Given the description of an element on the screen output the (x, y) to click on. 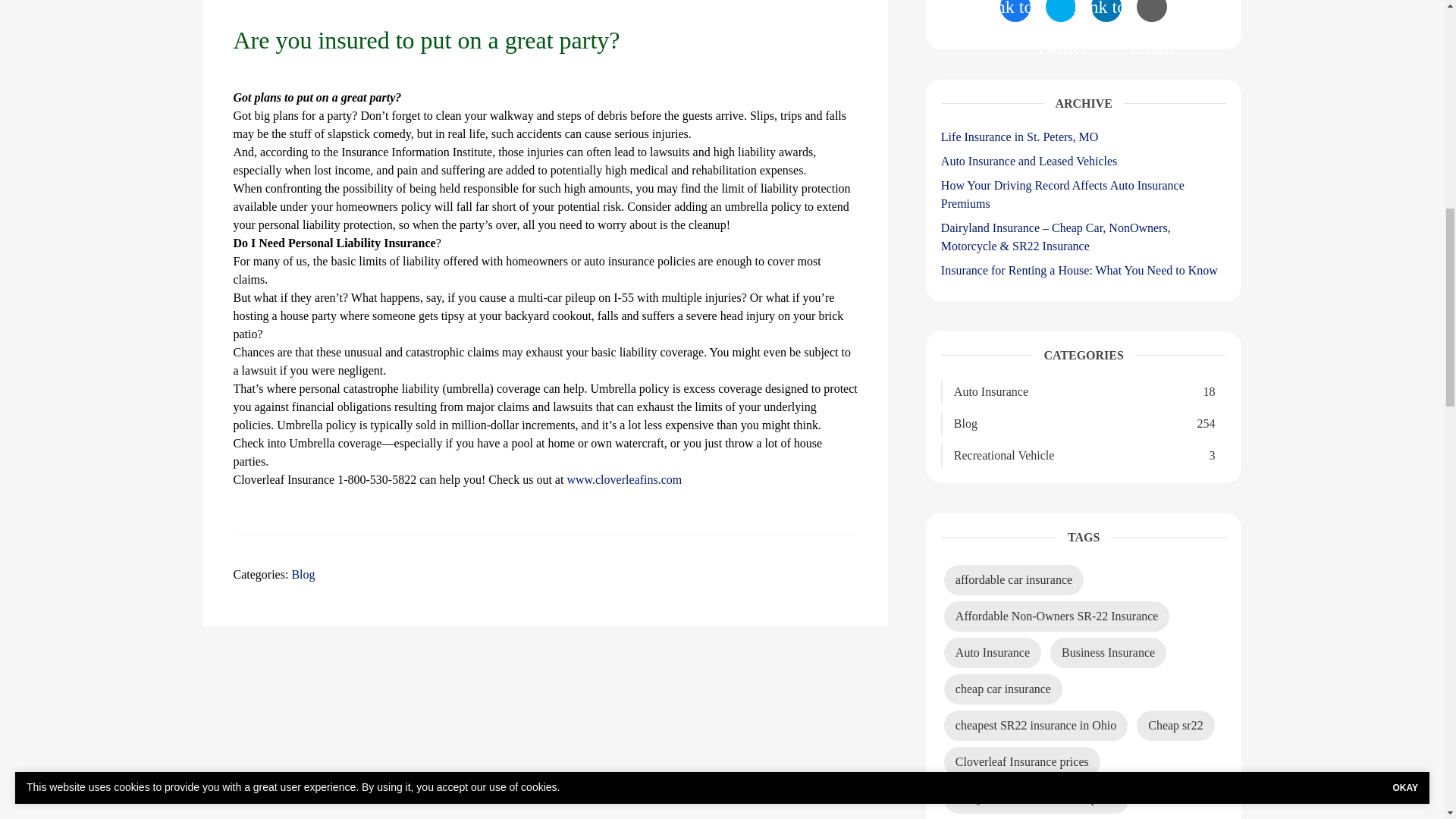
www.cloverleafins.com (623, 479)
Share Link to Facebook (1015, 11)
Share Link to LinkedIn (1105, 11)
Share Link to Twitter (1060, 11)
Blog (302, 574)
